Given the description of an element on the screen output the (x, y) to click on. 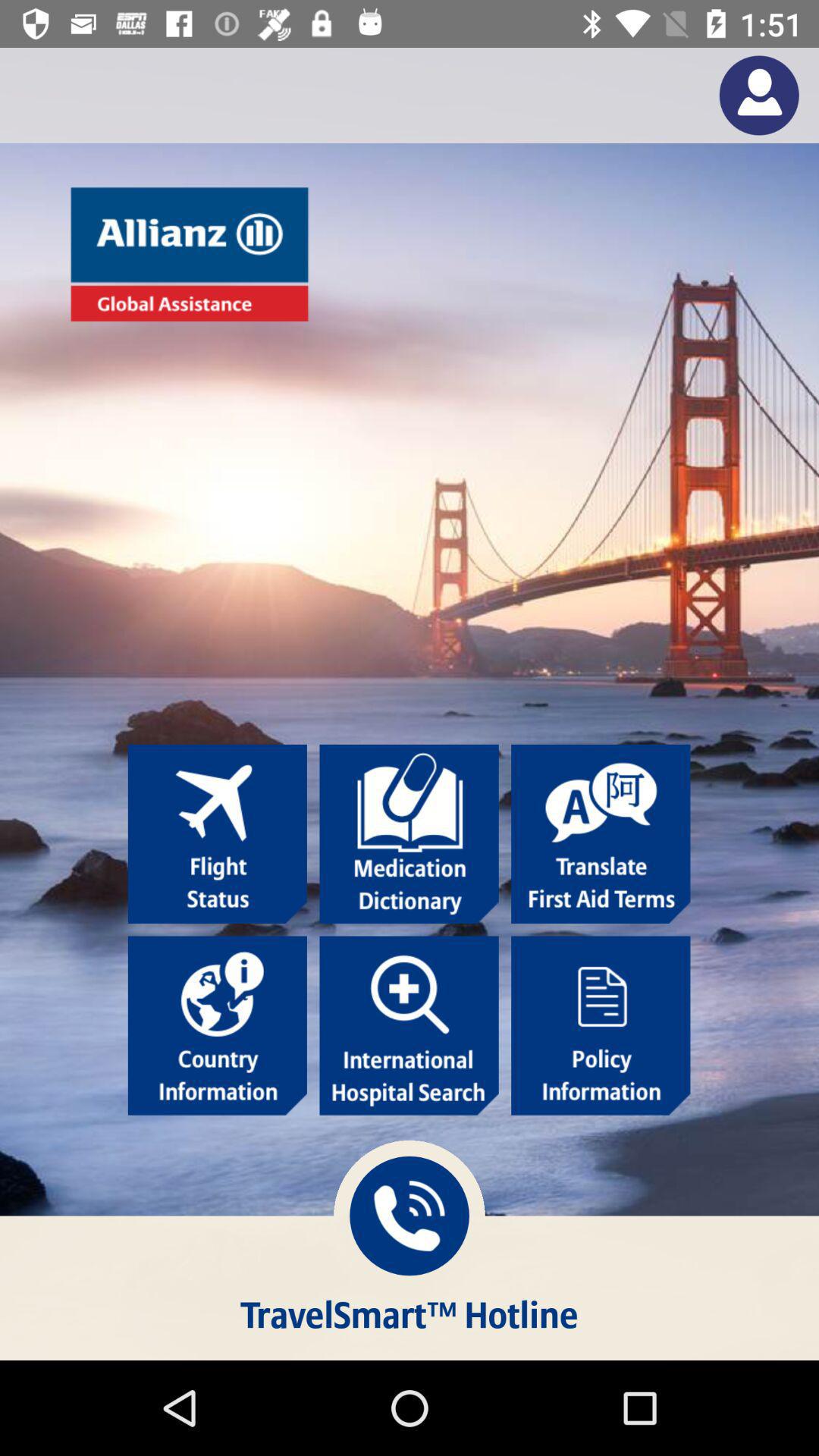
search international hospital (408, 1025)
